Given the description of an element on the screen output the (x, y) to click on. 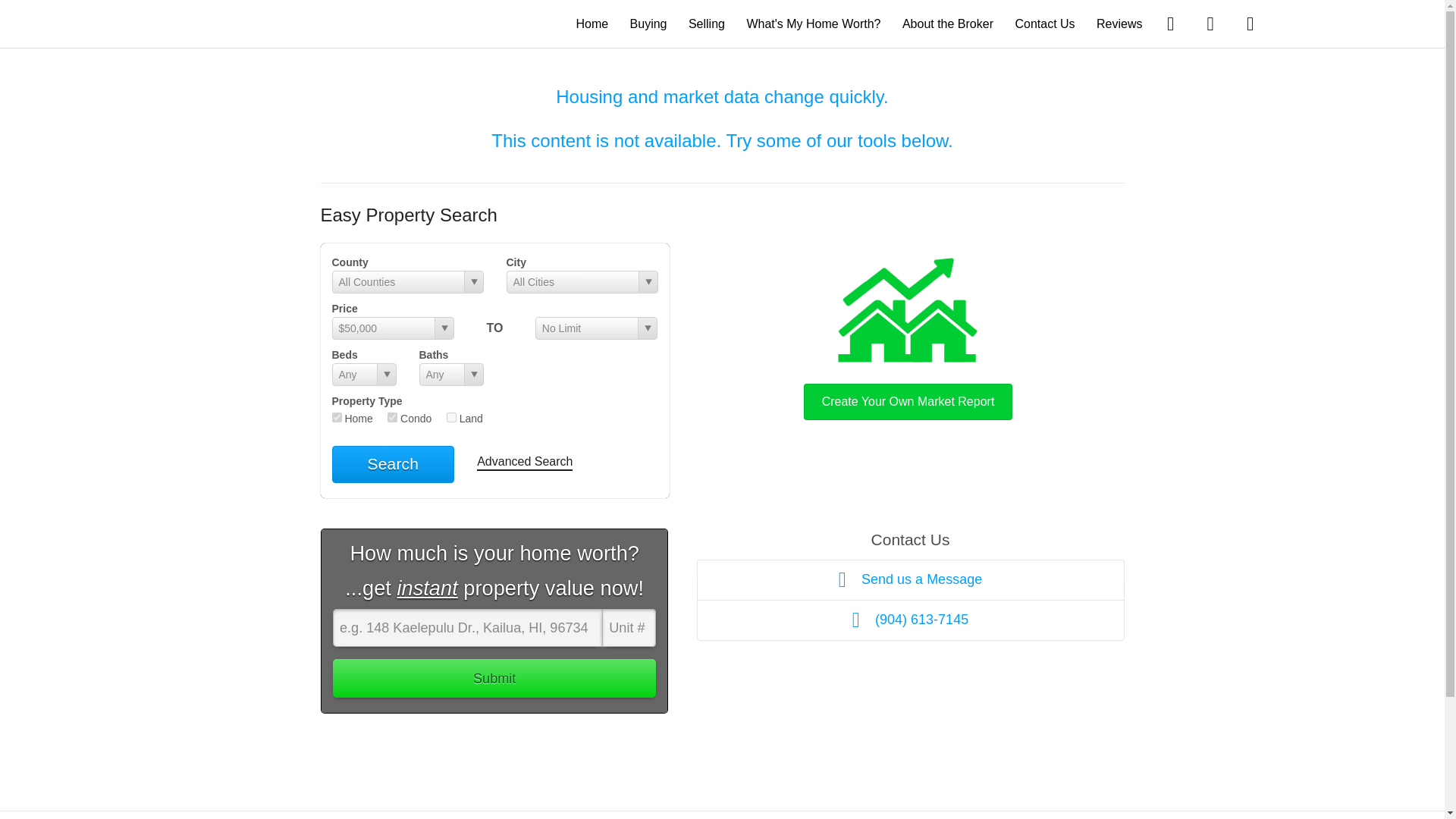
Send us a Message (909, 579)
About the Broker (947, 23)
What's My Home Worth? (812, 23)
Search (392, 463)
Open contact form (1170, 22)
Contact Us (1044, 23)
Create Your Own Market Report (907, 335)
res (336, 417)
Home (591, 23)
Search (392, 463)
Buying (648, 23)
lnd (451, 417)
Login or Signup (1249, 22)
Selling (706, 23)
Contact by Phone (1209, 22)
